Given the description of an element on the screen output the (x, y) to click on. 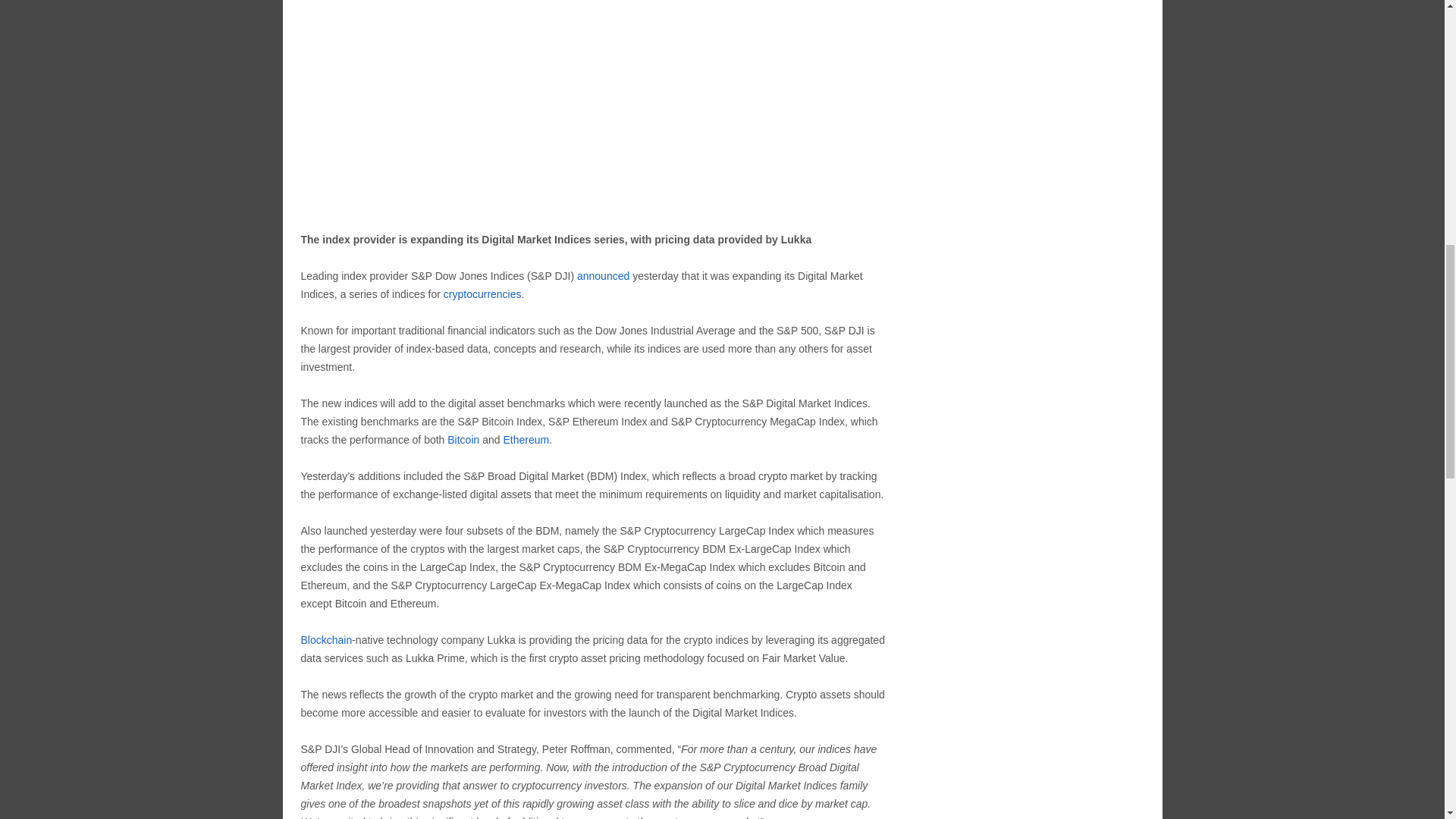
Bitcoin (462, 439)
announced (602, 275)
Blockchain (325, 639)
cryptocurrencies (482, 294)
Ethereum (525, 439)
